Given the description of an element on the screen output the (x, y) to click on. 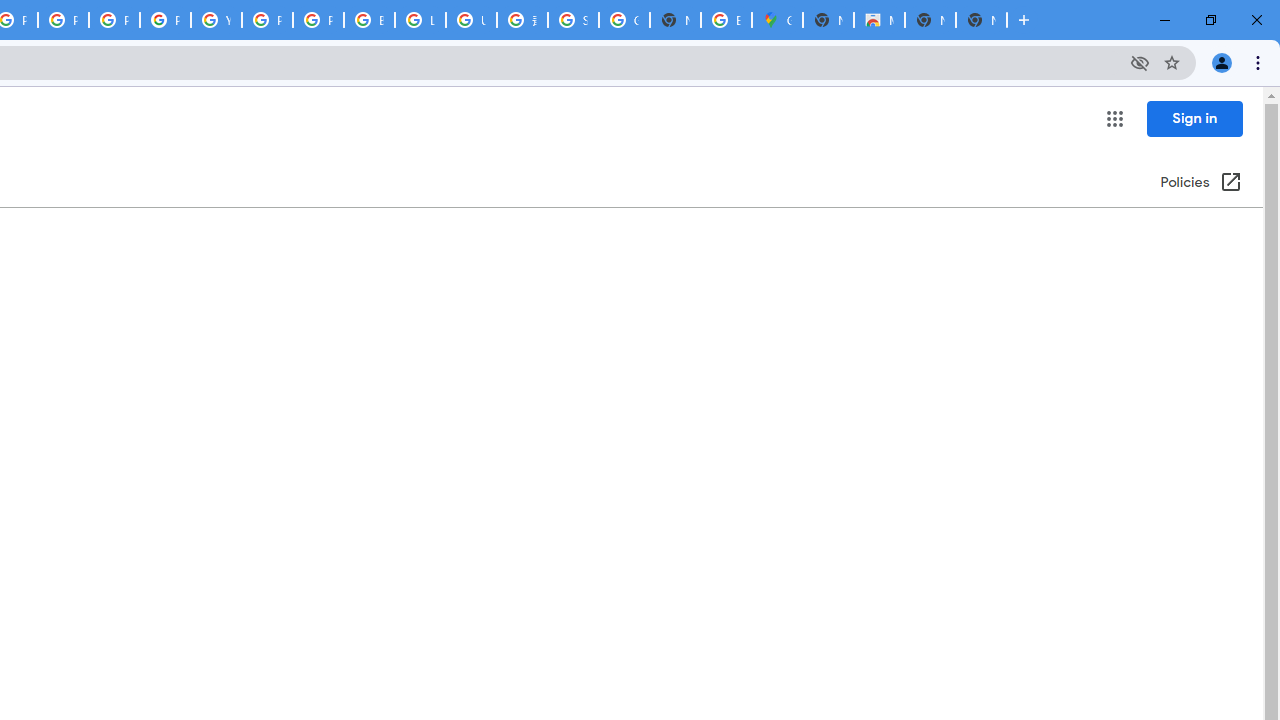
Sign in - Google Accounts (573, 20)
Privacy Help Center - Policies Help (113, 20)
Privacy Help Center - Policies Help (63, 20)
